Given the description of an element on the screen output the (x, y) to click on. 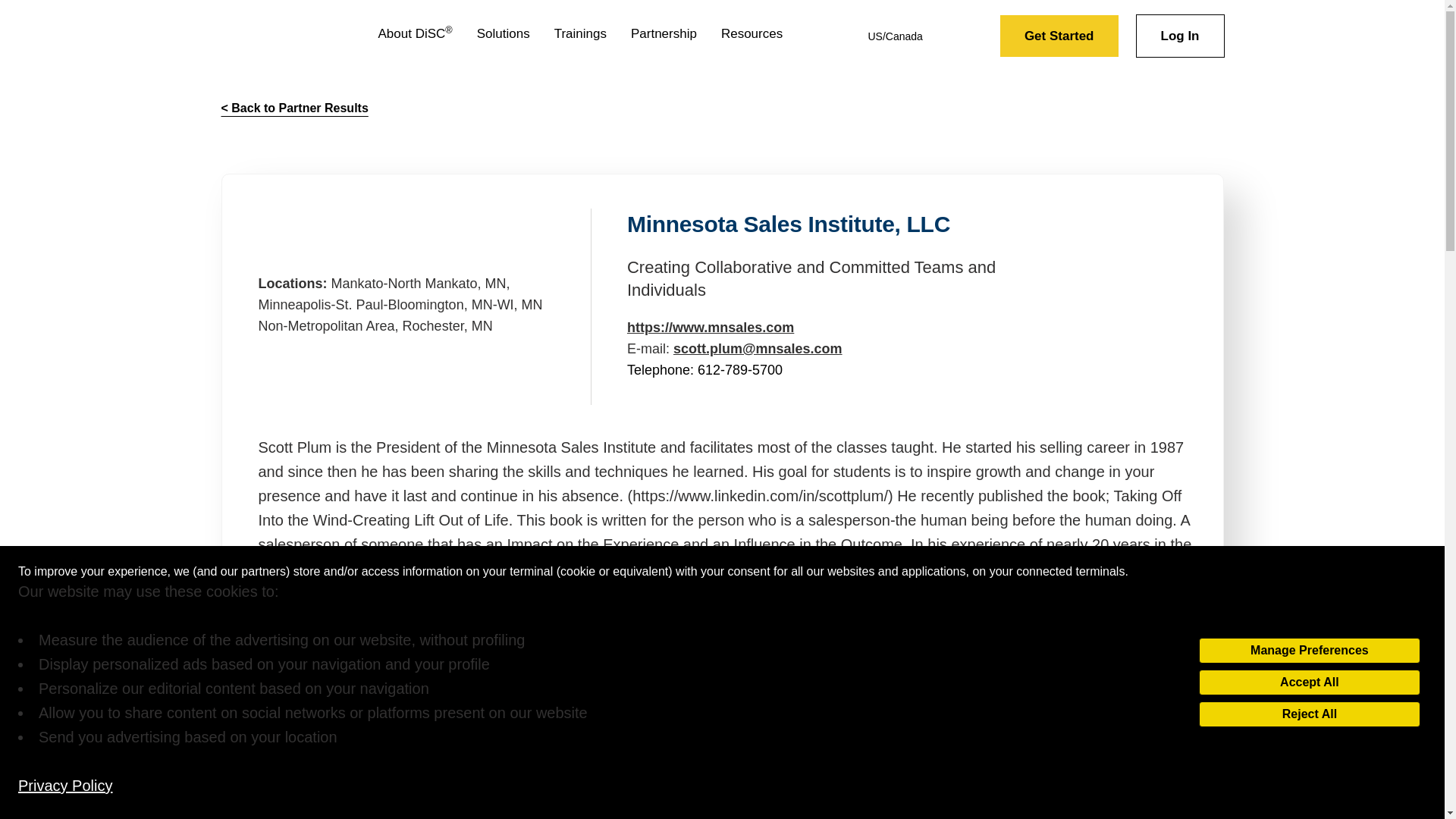
Partnership (663, 35)
Reject All (1309, 714)
Solutions (503, 35)
Manage Preferences (1309, 650)
Get Started (1059, 35)
Trainings (580, 35)
Privacy Policy (64, 785)
Accept All (1309, 682)
Resources (751, 35)
